Given the description of an element on the screen output the (x, y) to click on. 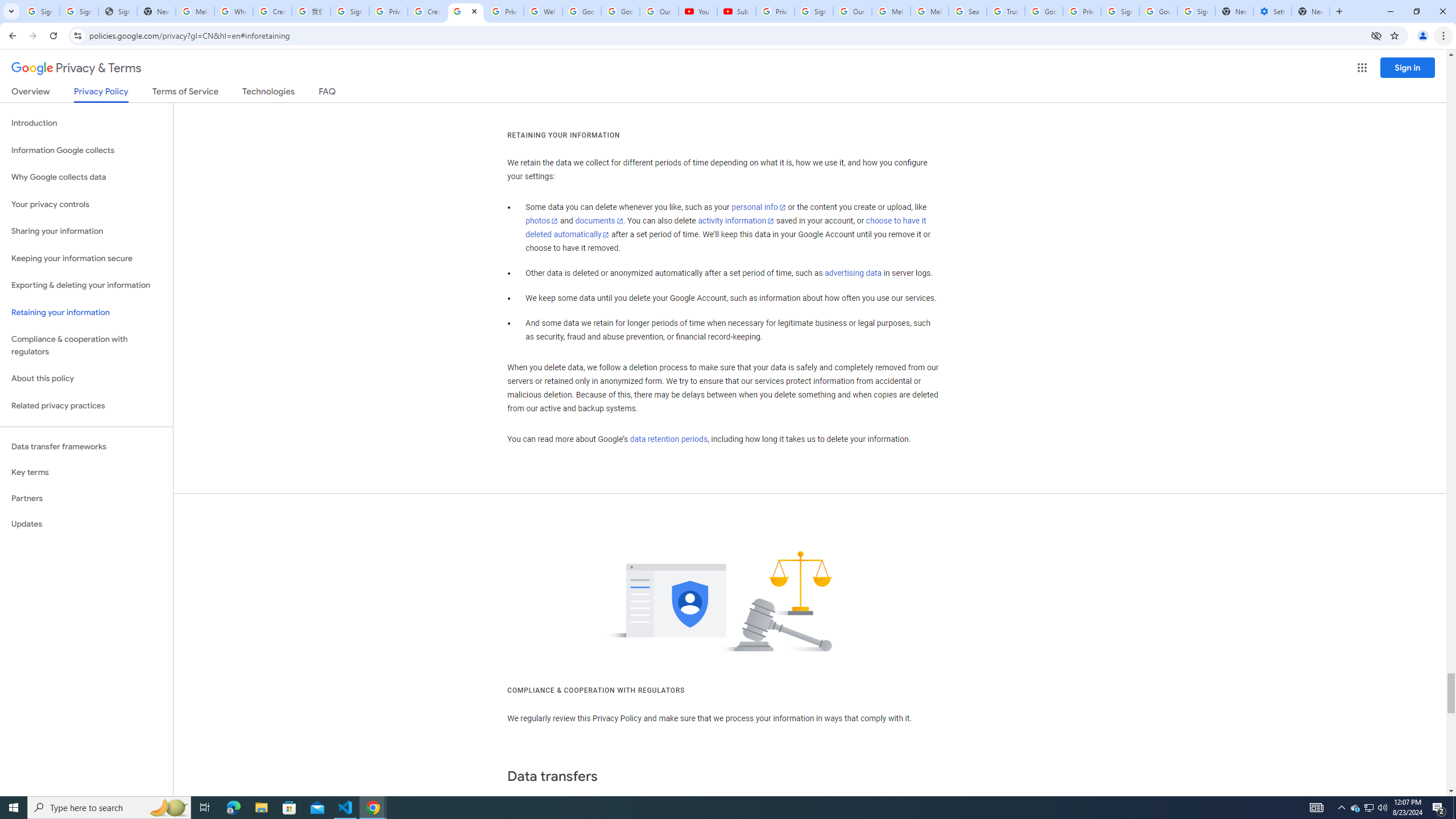
Who is my administrator? - Google Account Help (233, 11)
Sharing your information (86, 230)
Google Cybersecurity Innovations - Google Safety Center (1158, 11)
Sign in - Google Accounts (1196, 11)
Sign in - Google Accounts (1120, 11)
Sign in - Google Accounts (349, 11)
Partners (86, 497)
activity information (735, 221)
choose to have it deleted automatically (725, 227)
